Given the description of an element on the screen output the (x, y) to click on. 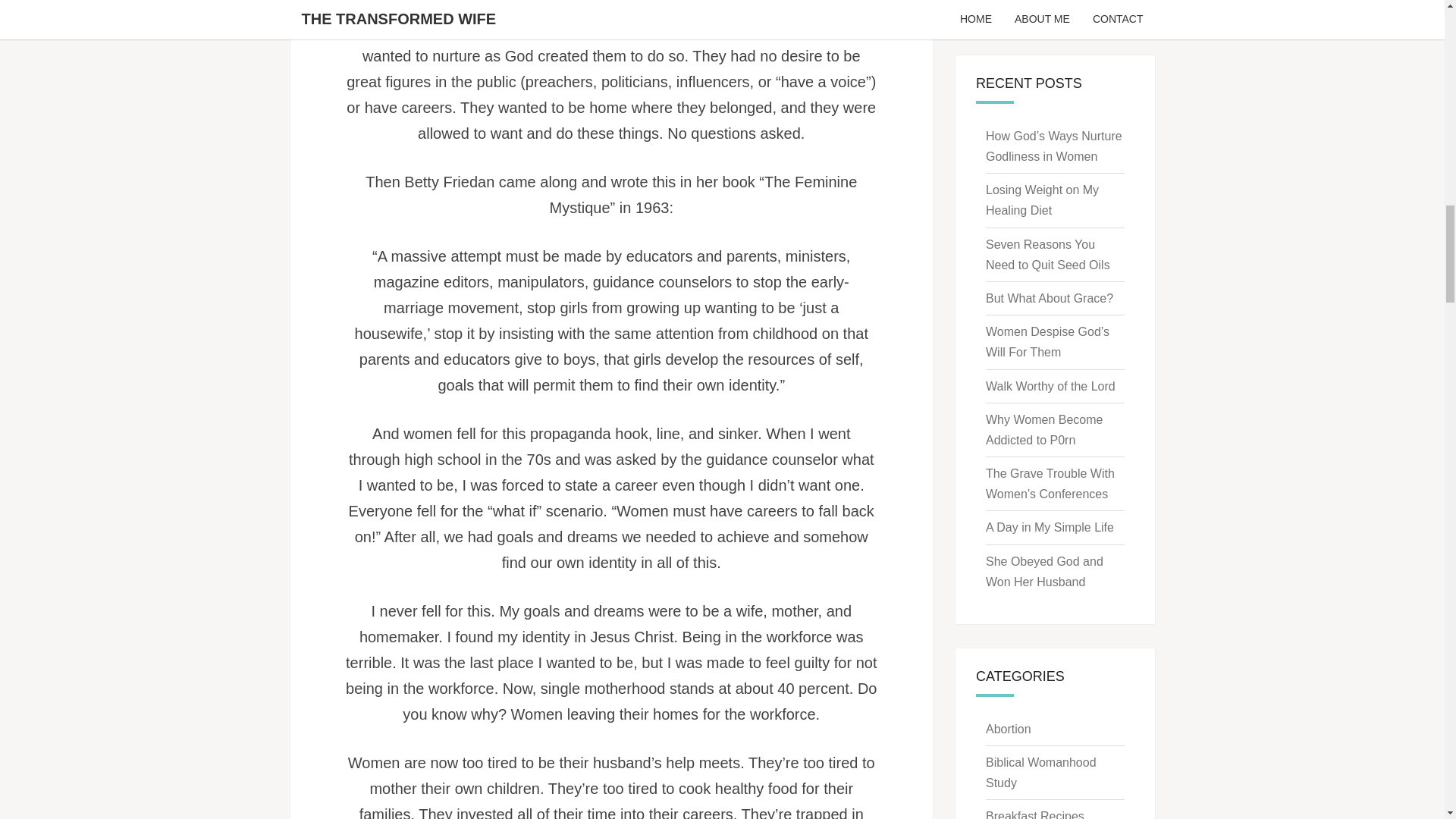
Seven Reasons You Need to Quit Seed Oils (1047, 254)
Biblical Womanhood Study (1040, 772)
A Day in My Simple Life (1049, 526)
Breakfast Recipes (1034, 814)
But What About Grace? (1049, 297)
Losing Weight on My Healing Diet (1042, 200)
Why Women Become Addicted to P0rn (1043, 429)
Abortion (1007, 728)
Walk Worthy of the Lord (1050, 386)
She Obeyed God and Won Her Husband (1044, 571)
